Given the description of an element on the screen output the (x, y) to click on. 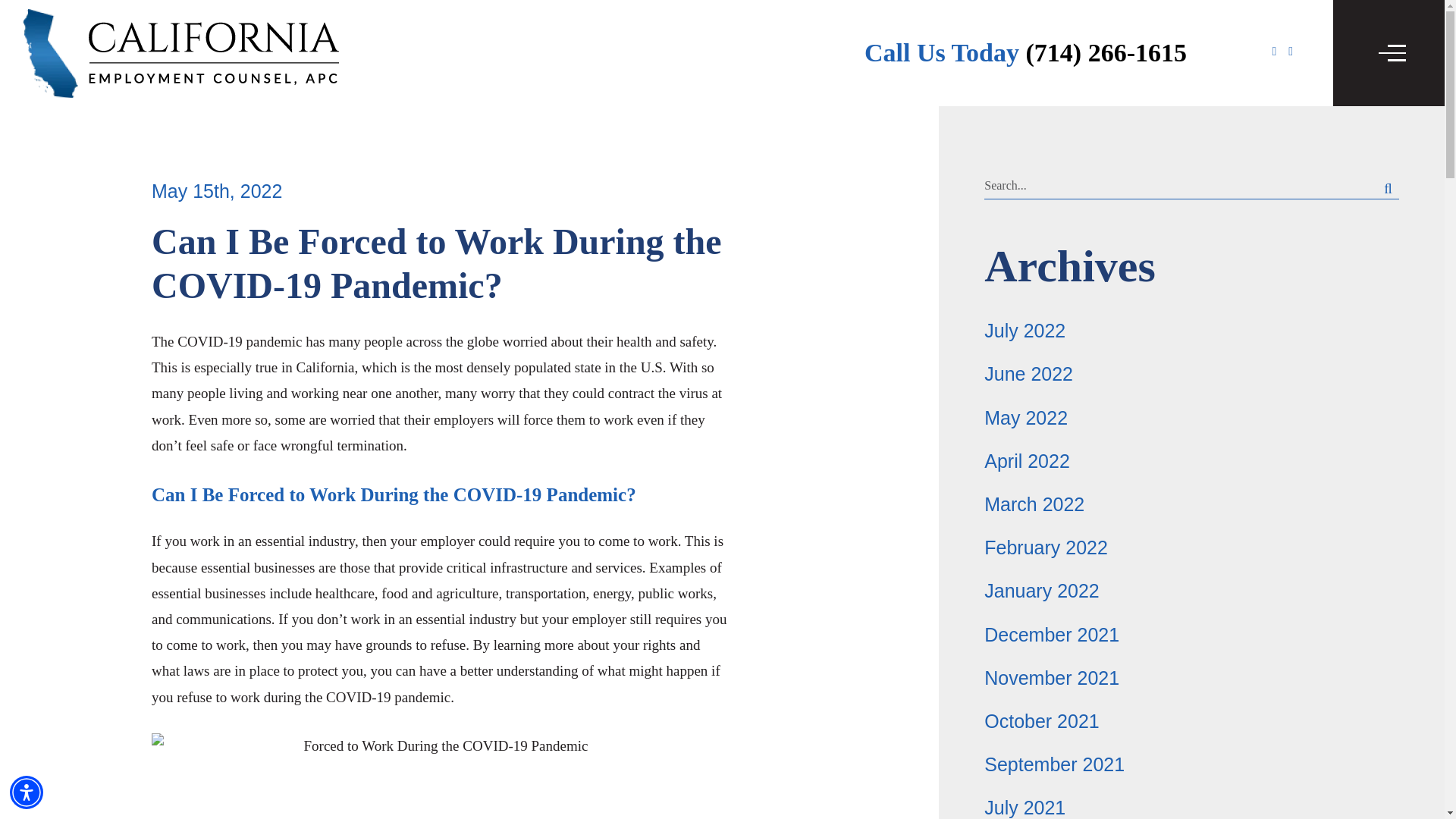
July 2022 (1024, 330)
work during the COVID-19 (310, 697)
December 2021 (1051, 633)
June 2022 (1028, 373)
September 2021 (1054, 763)
October 2021 (1041, 721)
wrongful termination (342, 445)
July 2021 (1024, 807)
May 2022 (1025, 417)
March 2022 (1034, 504)
Accessibility Menu (26, 792)
April 2022 (1027, 460)
February 2022 (1046, 547)
January 2022 (1041, 590)
November 2021 (1051, 677)
